Given the description of an element on the screen output the (x, y) to click on. 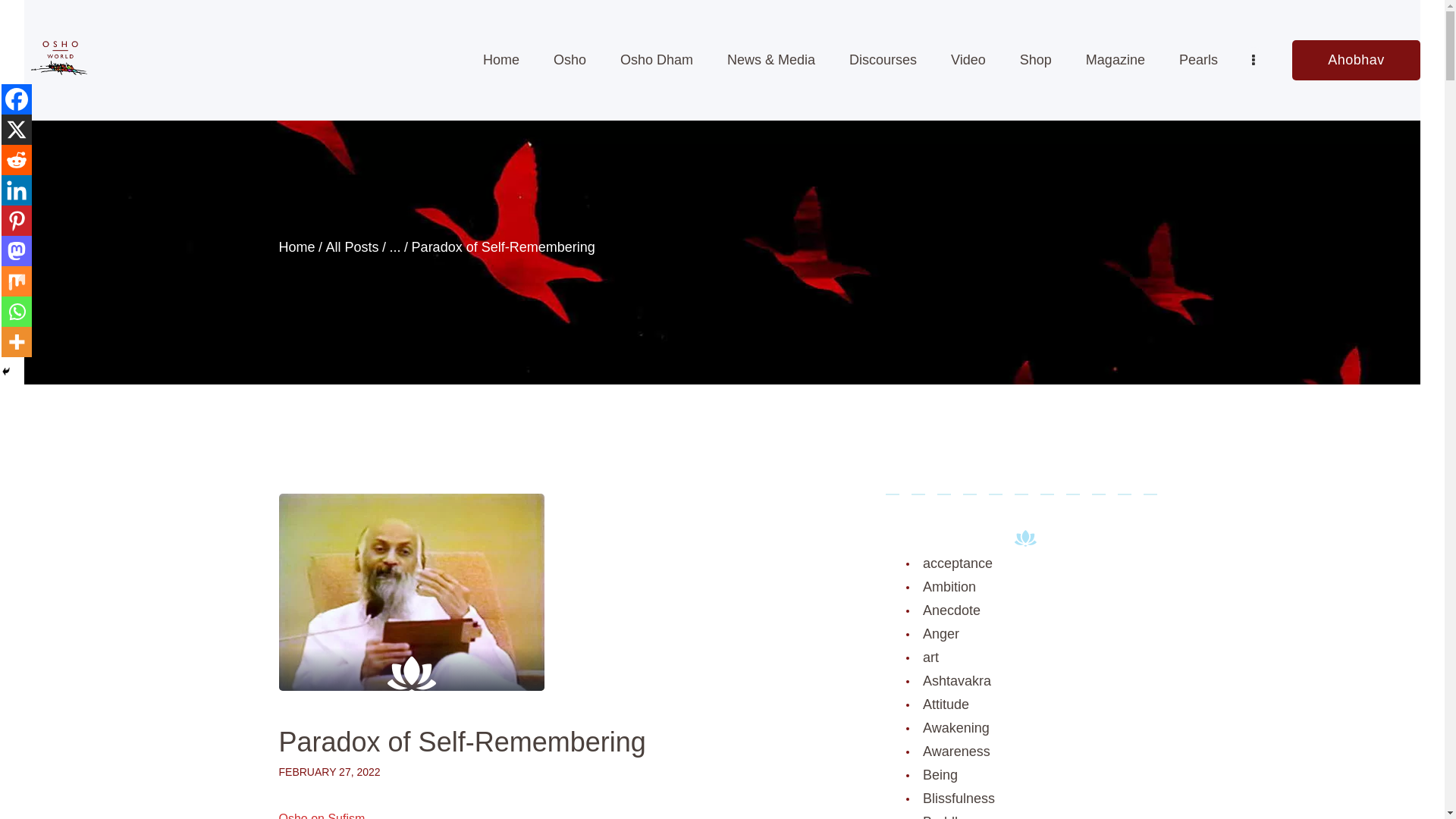
Home (297, 247)
Osho (568, 60)
Video (968, 60)
Reddit (16, 159)
X (16, 129)
Magazine (1114, 60)
Home (500, 60)
All Posts (352, 246)
Shop (1035, 60)
Pinterest (16, 220)
Ahobhav (1355, 60)
Osho Dham (656, 60)
Discourses (883, 60)
Mastodon (16, 250)
Facebook (16, 99)
